Given the description of an element on the screen output the (x, y) to click on. 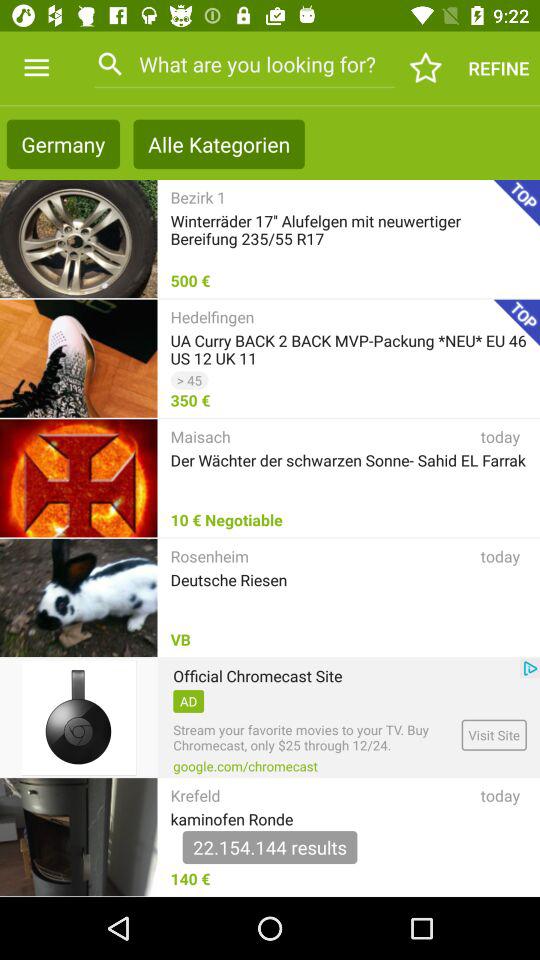
open the visit site icon (493, 734)
